Given the description of an element on the screen output the (x, y) to click on. 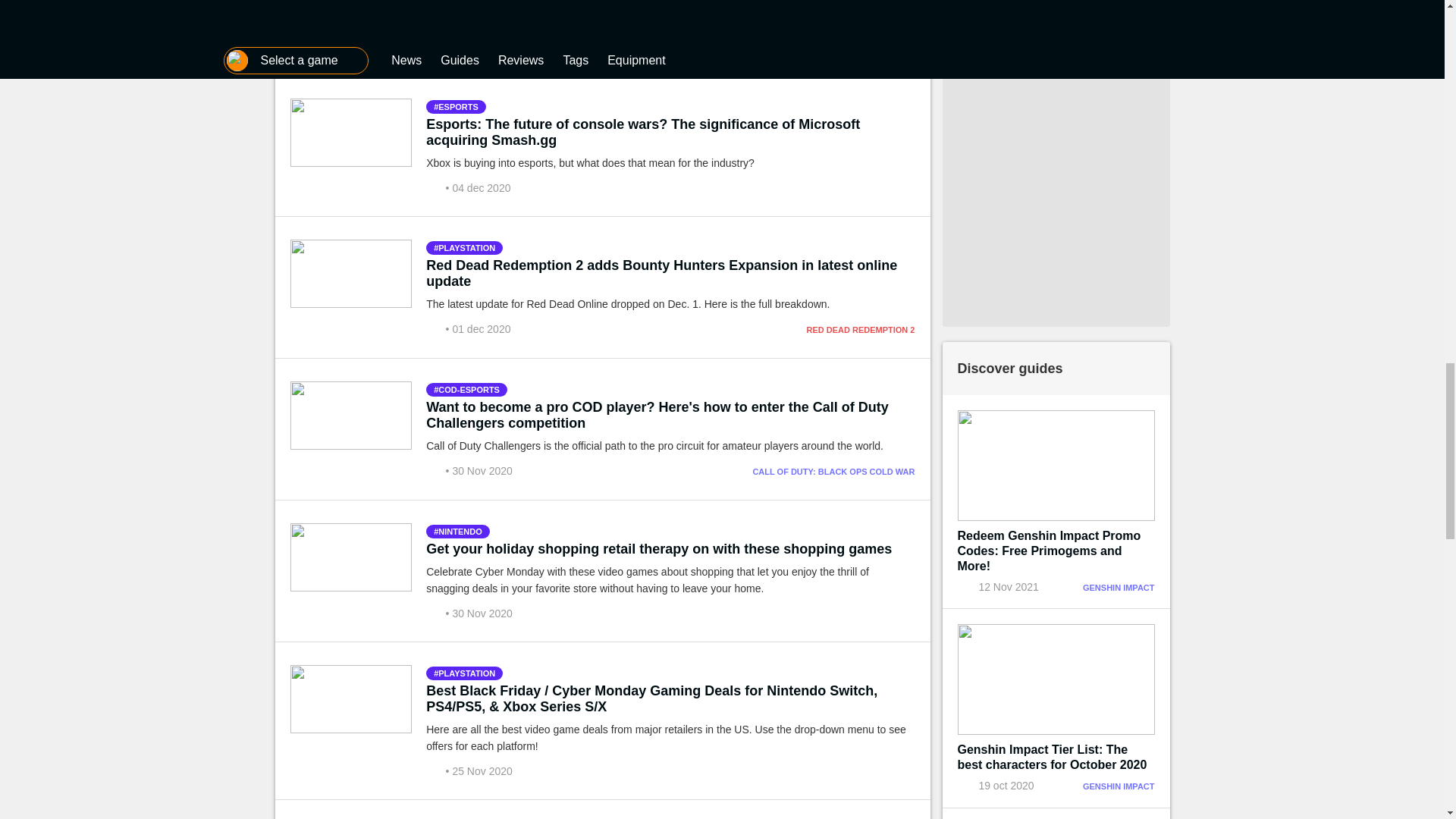
GENSHIN IMPACT (1118, 587)
RED DEAD REDEMPTION 2 (860, 329)
Ubisoft delays the Prince of Persia remake (563, 3)
CALL OF DUTY: BLACK OPS COLD WAR (833, 470)
COD-ESPORTS (466, 389)
ESPORTS (456, 106)
